Given the description of an element on the screen output the (x, y) to click on. 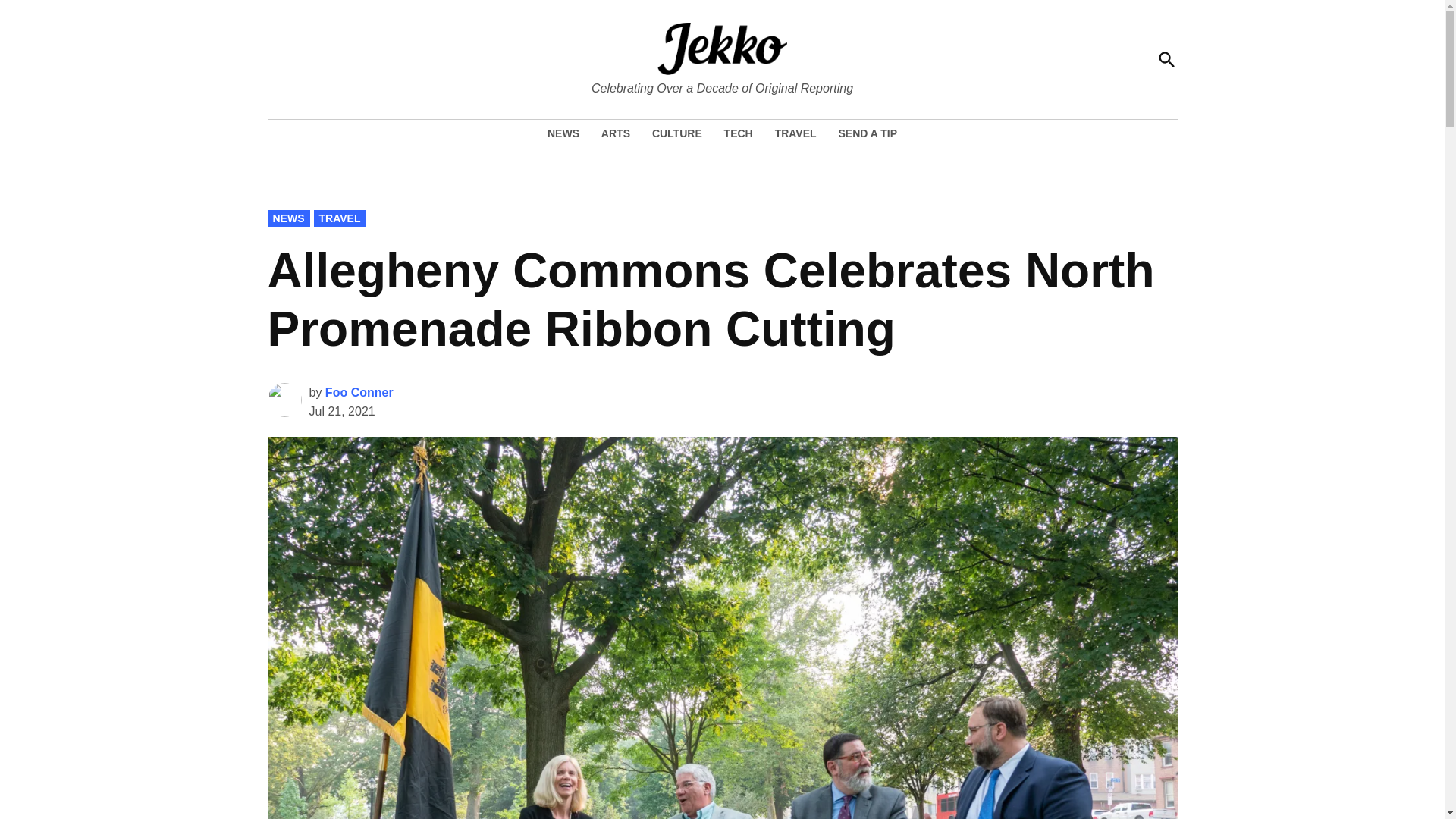
NEWS (287, 217)
TRAVEL (795, 133)
CULTURE (677, 133)
SEND A TIP (862, 133)
TECH (738, 133)
NEWS (566, 133)
Jekko (727, 86)
TRAVEL (340, 217)
Foo Conner (358, 391)
ARTS (615, 133)
